Given the description of an element on the screen output the (x, y) to click on. 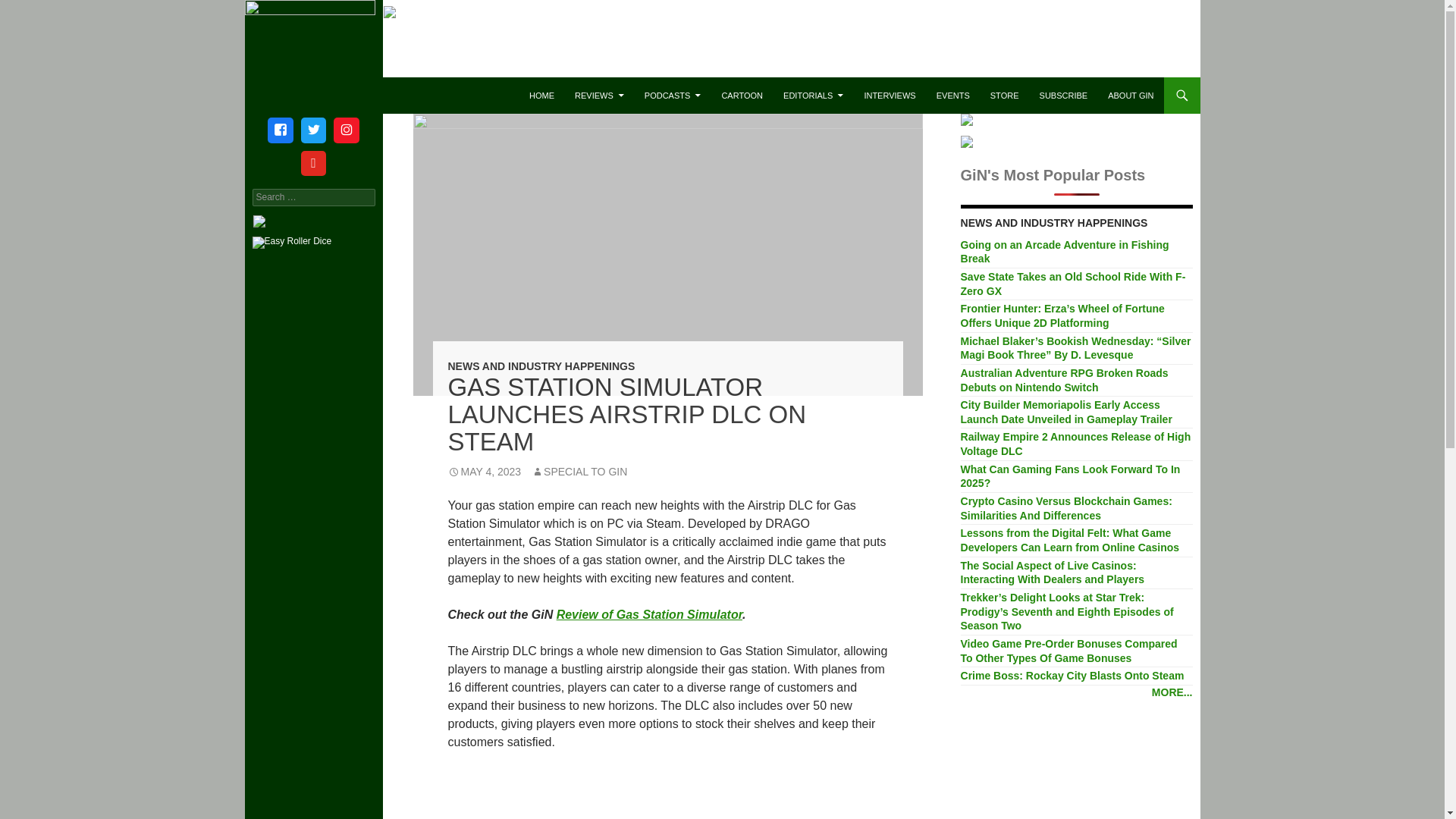
Facebook (280, 130)
Posts by Special to GiN (579, 471)
Twitter (313, 130)
PODCASTS (672, 94)
CARTOON (741, 94)
REVIEWS (599, 94)
STORE (1004, 94)
HOME (541, 94)
INTERVIEWS (889, 94)
